Given the description of an element on the screen output the (x, y) to click on. 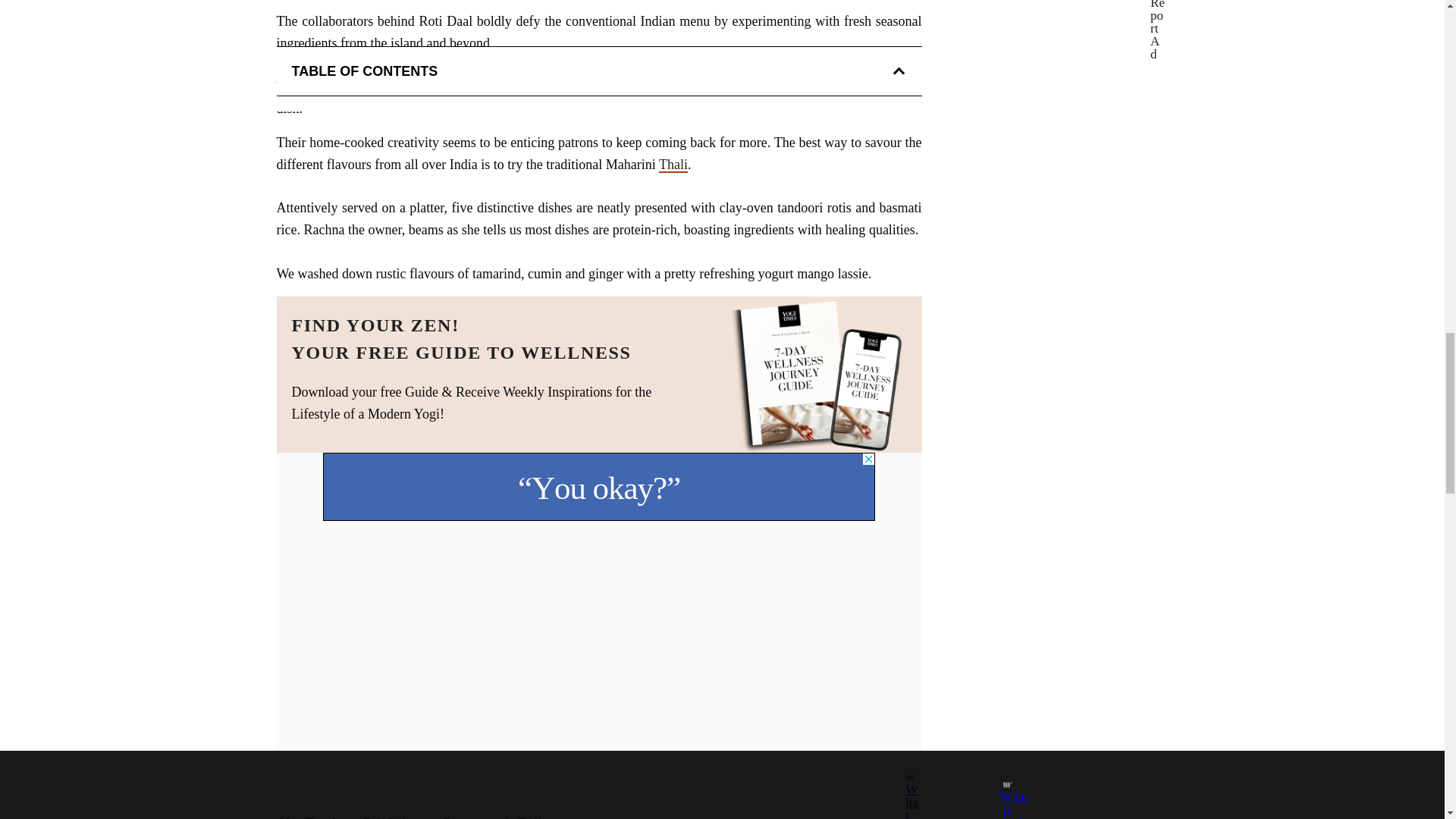
3rd party ad content (599, 486)
